Given the description of an element on the screen output the (x, y) to click on. 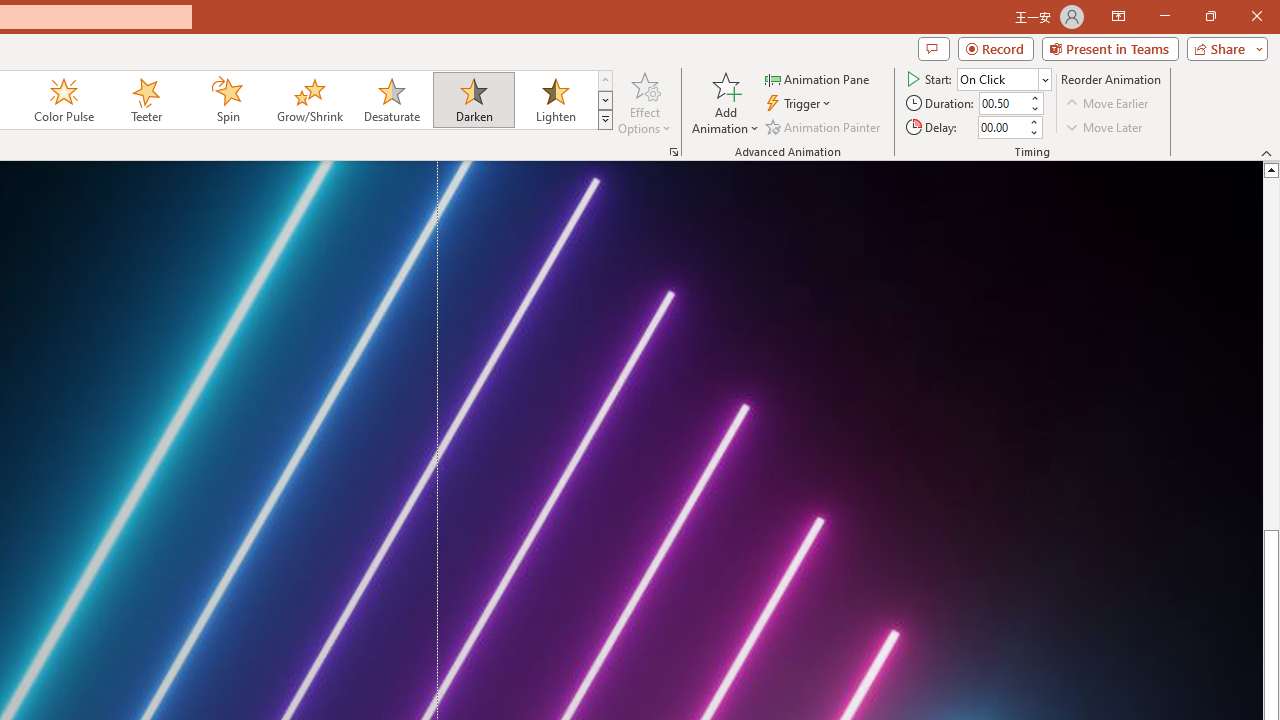
Teeter (145, 100)
Desaturate (391, 100)
Effect Options (644, 102)
Animation Painter (824, 126)
Animation Styles (605, 120)
Grow/Shrink (309, 100)
Animation Delay (1002, 127)
Animation Duration (1003, 103)
More Options... (673, 151)
Darken (473, 100)
